Given the description of an element on the screen output the (x, y) to click on. 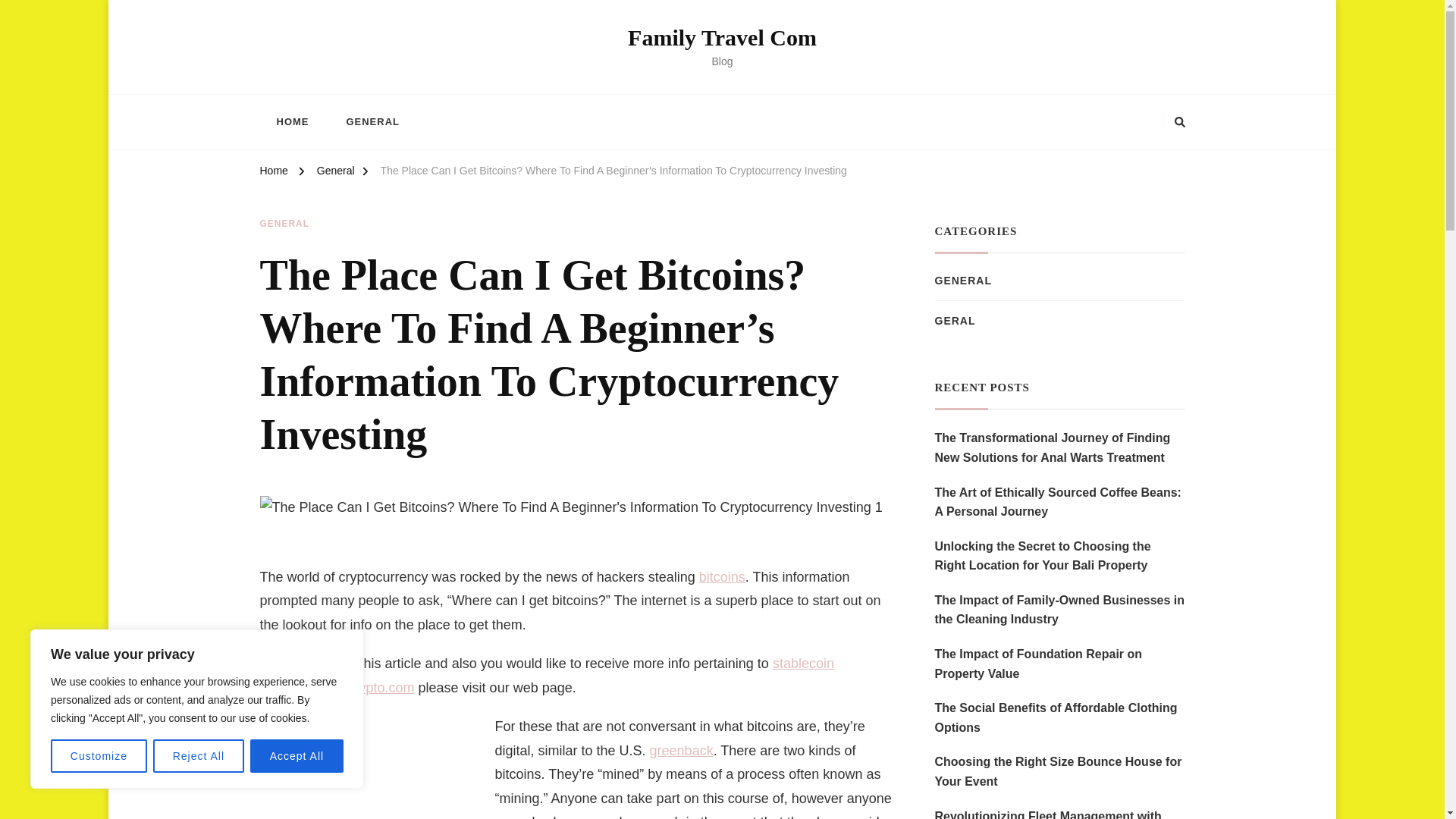
Family Travel Com (721, 37)
Home (272, 172)
GENERAL (371, 121)
Customize (98, 756)
HOME (291, 121)
bitcoins (721, 576)
General (336, 172)
Reject All (198, 756)
GENERAL (283, 223)
greenback (681, 750)
Accept All (296, 756)
